Given the description of an element on the screen output the (x, y) to click on. 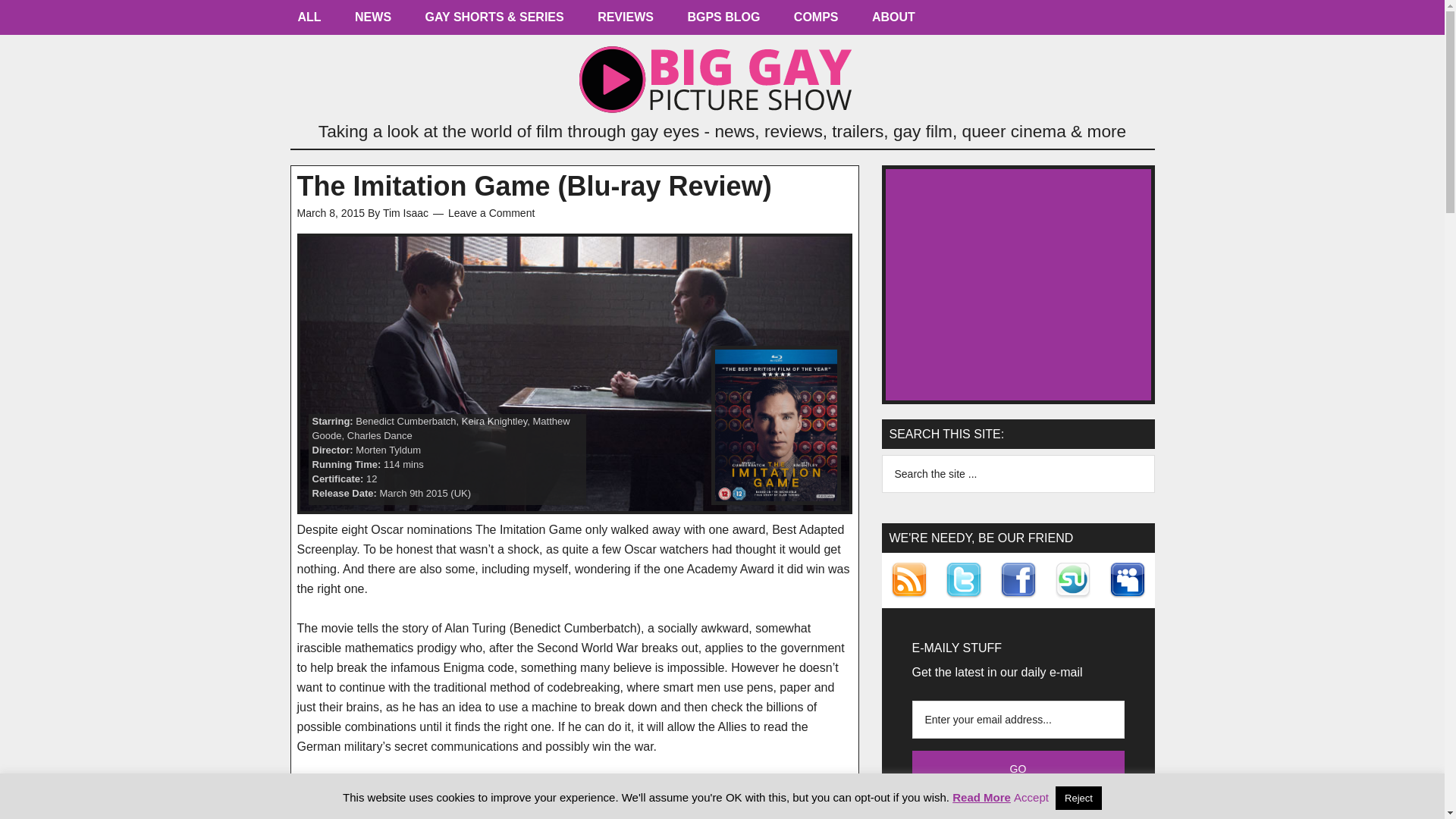
Keira Knightley (494, 420)
BGPS BLOG (722, 21)
Matthew Goode (441, 428)
bgps-says (722, 21)
NEWS (372, 21)
news (372, 21)
114 mins (403, 464)
ABOUT (893, 21)
12 (371, 478)
ALL (309, 21)
REVIEWS (625, 21)
Benedict Cumberbatch (405, 420)
reviews (625, 21)
everything-bgps (309, 21)
